Given the description of an element on the screen output the (x, y) to click on. 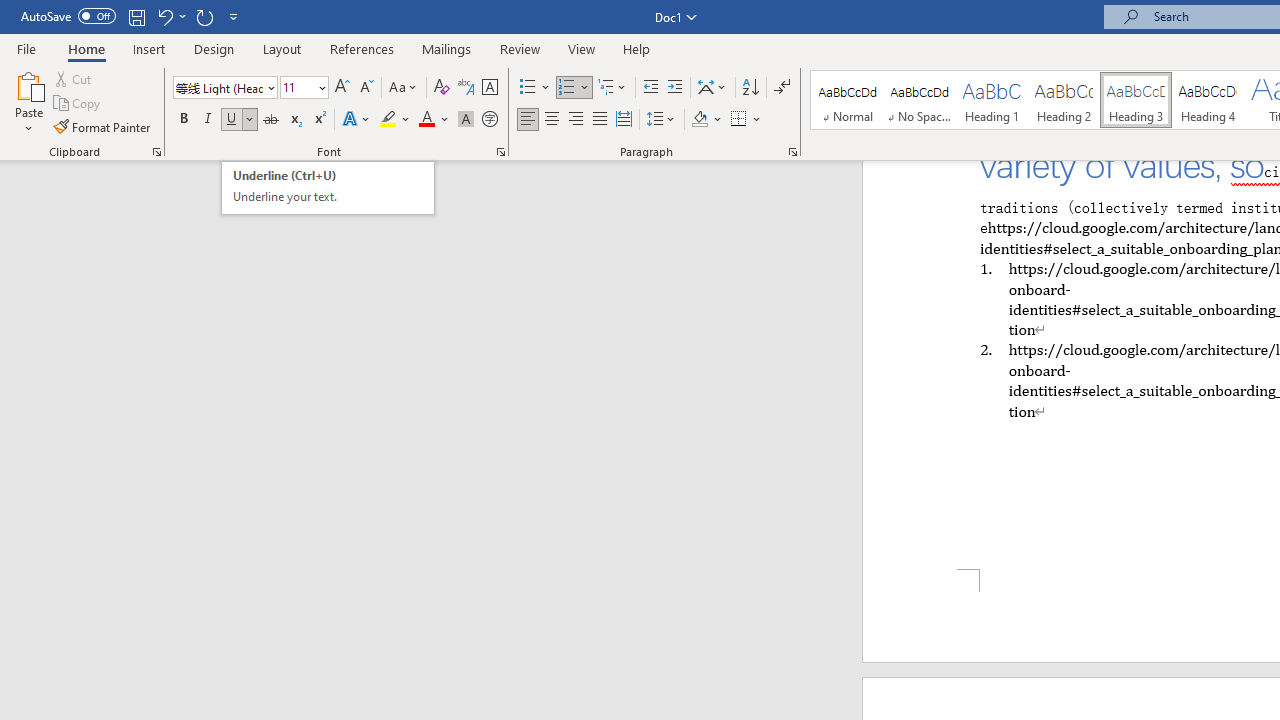
Undo Paragraph Alignment (164, 15)
Undo Paragraph Alignment (170, 15)
